Given the description of an element on the screen output the (x, y) to click on. 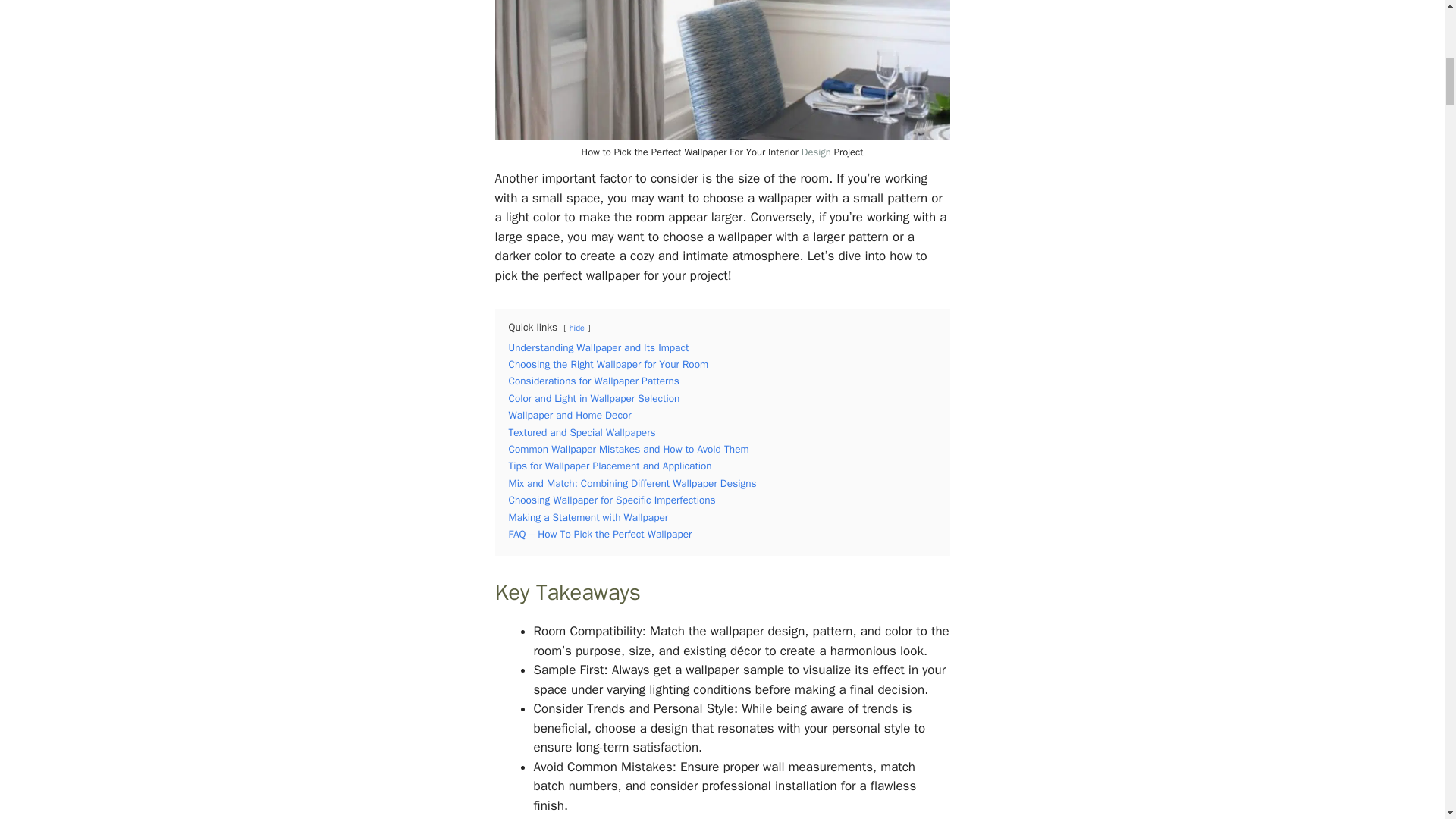
Color and Light in Wallpaper Selection (593, 398)
hide (577, 327)
Wallpaper and Home Decor (569, 414)
Making a Statement with Wallpaper (588, 517)
Design (816, 151)
Understanding Wallpaper and Its Impact (598, 347)
Tips for Wallpaper Placement and Application (609, 465)
Mix and Match: Combining Different Wallpaper Designs (631, 482)
Choosing Wallpaper for Specific Imperfections (611, 499)
